Given the description of an element on the screen output the (x, y) to click on. 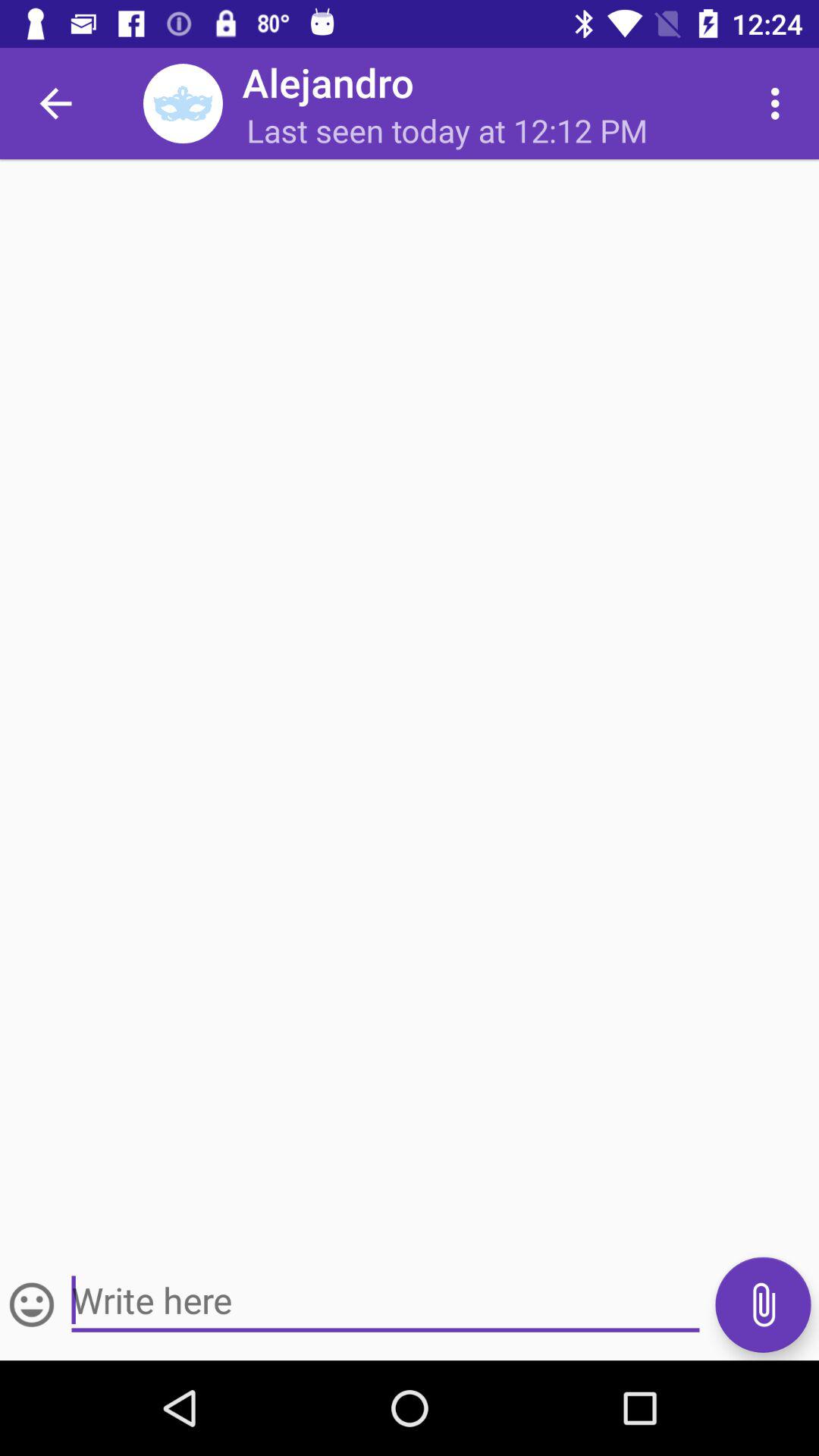
typing area (385, 1300)
